Given the description of an element on the screen output the (x, y) to click on. 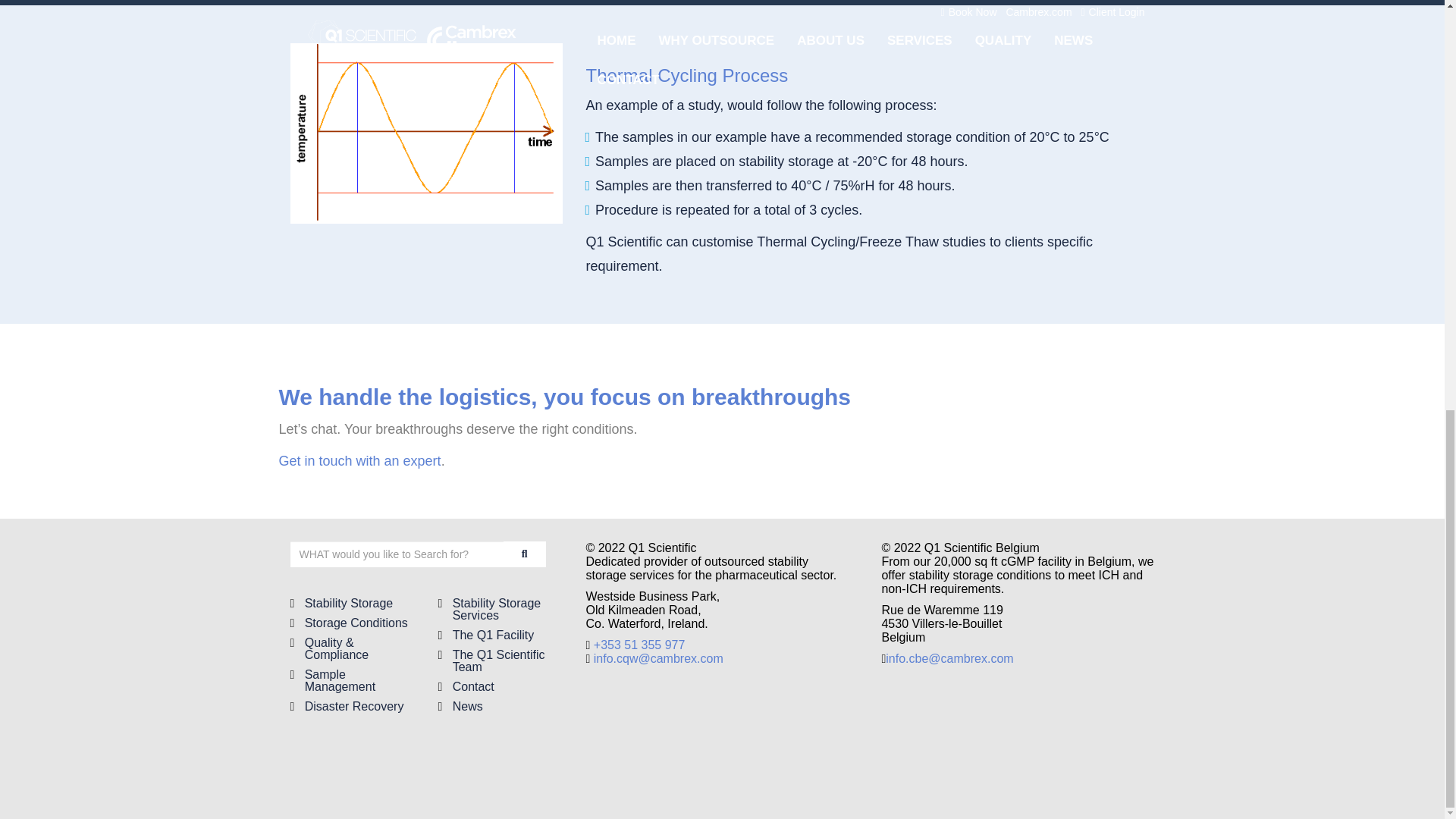
Get in touch with an expert (360, 460)
Stability Storage (348, 603)
Storage Conditions (355, 622)
The Q1 Facility (493, 634)
Sample Management (339, 680)
The Q1 Scientific Team (498, 660)
Stability Storage Services (496, 609)
Disaster Recovery (354, 706)
